Given the description of an element on the screen output the (x, y) to click on. 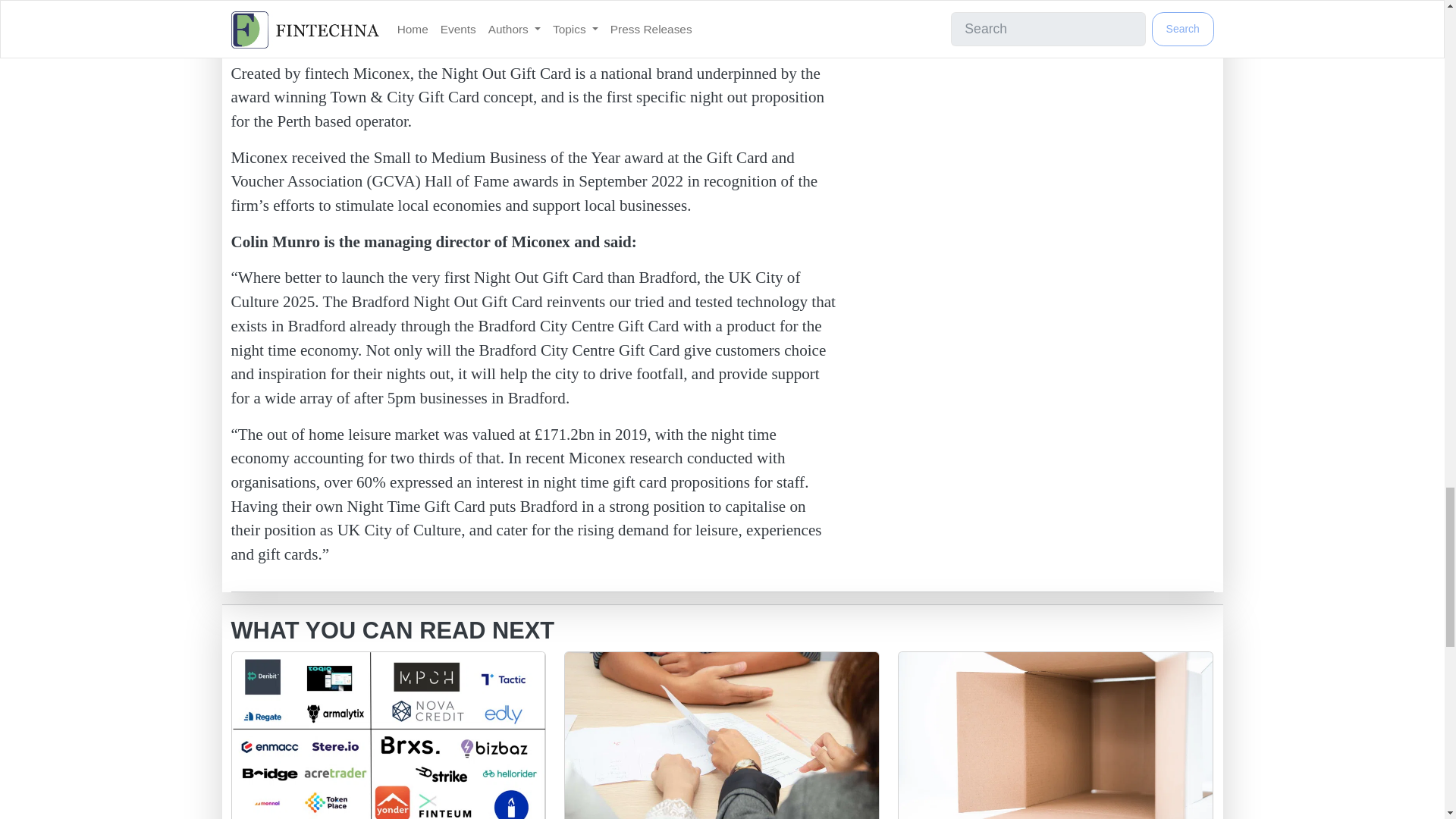
Top Fintech SPAC deals of 2022 (1055, 735)
